Given the description of an element on the screen output the (x, y) to click on. 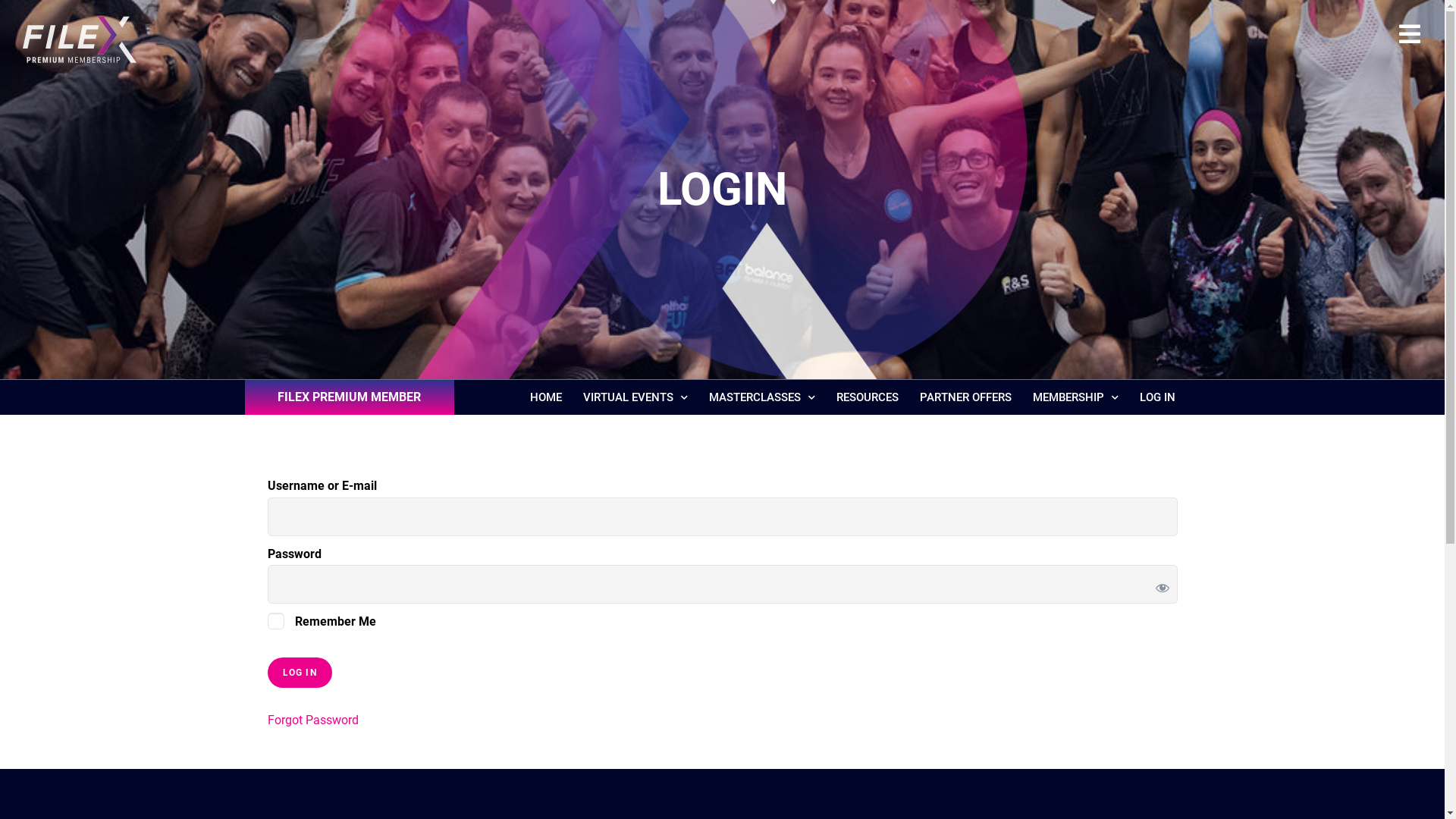
MASTERCLASSES Element type: text (761, 396)
HOME Element type: text (545, 396)
PARTNER OFFERS Element type: text (965, 396)
FILEX PREMIUM MEMBER Element type: text (348, 396)
LOG IN Element type: text (1157, 396)
RESOURCES Element type: text (867, 396)
MEMBERSHIP Element type: text (1075, 396)
Forgot Password Element type: text (311, 719)
VIRTUAL EVENTS Element type: text (635, 396)
Log In Element type: text (298, 672)
